Given the description of an element on the screen output the (x, y) to click on. 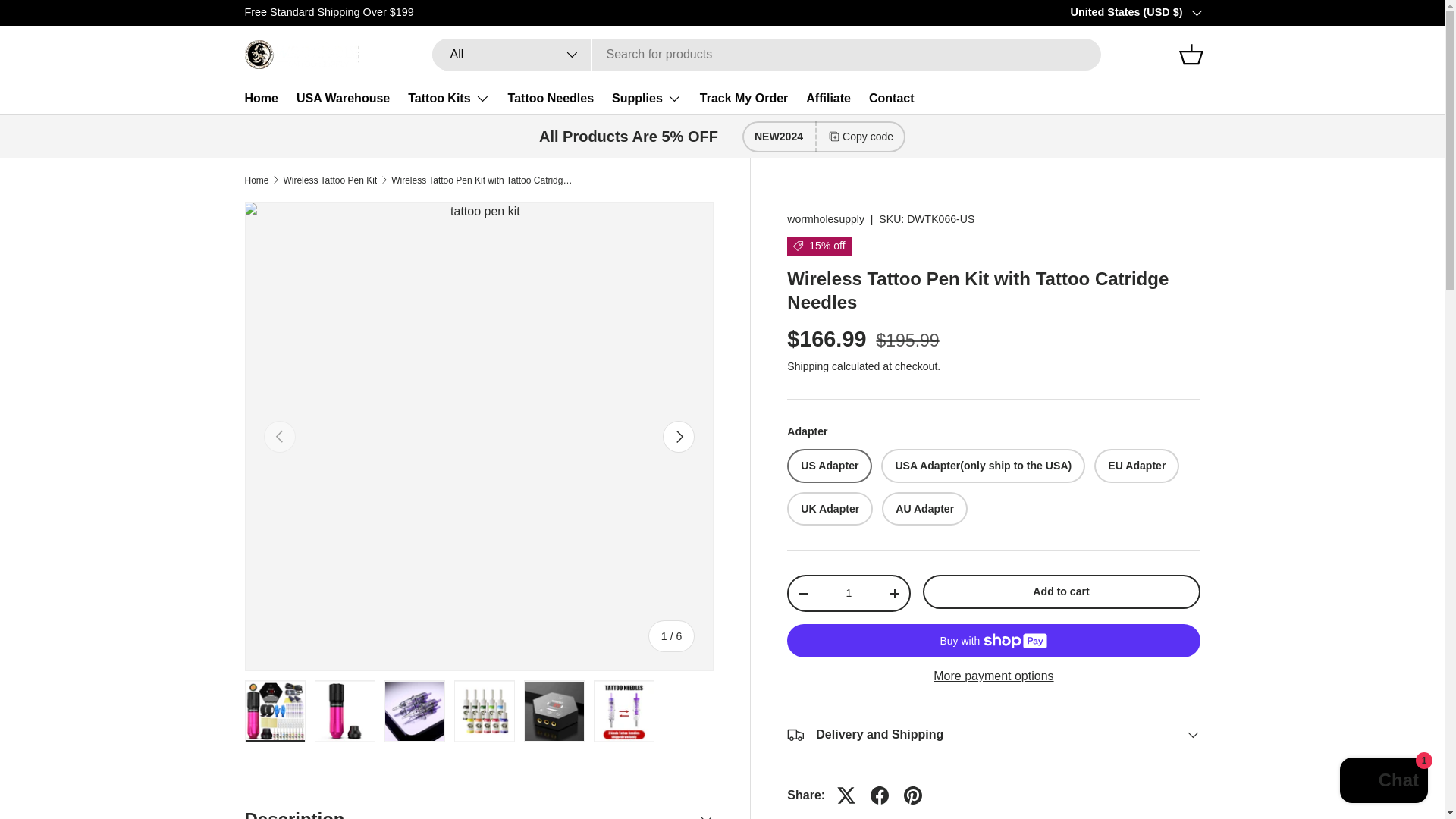
Load image 2 in gallery view (344, 711)
Track My Order (744, 98)
Affiliate (828, 98)
Wireless Tattoo Pen Kit with Tattoo Catridge Needles (482, 180)
Home (255, 180)
Tattoo Needles (551, 98)
Shopify online store chat (1383, 781)
Skip to content (69, 21)
Previous (279, 436)
Next (678, 436)
1 (847, 593)
Load image 4 in gallery view (482, 711)
Contact (891, 98)
Tweet on X (846, 795)
